Given the description of an element on the screen output the (x, y) to click on. 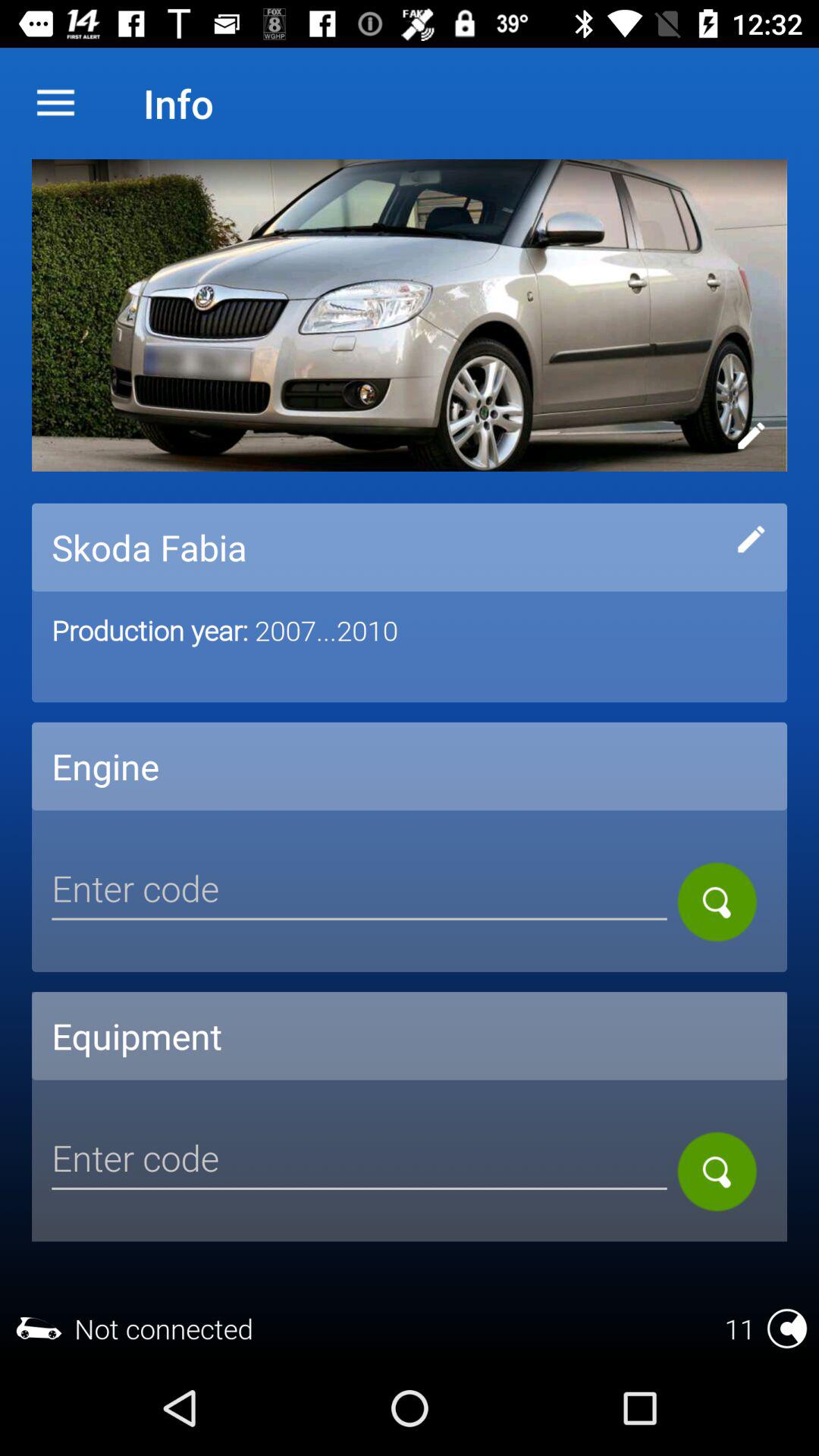
search (359, 1160)
